Given the description of an element on the screen output the (x, y) to click on. 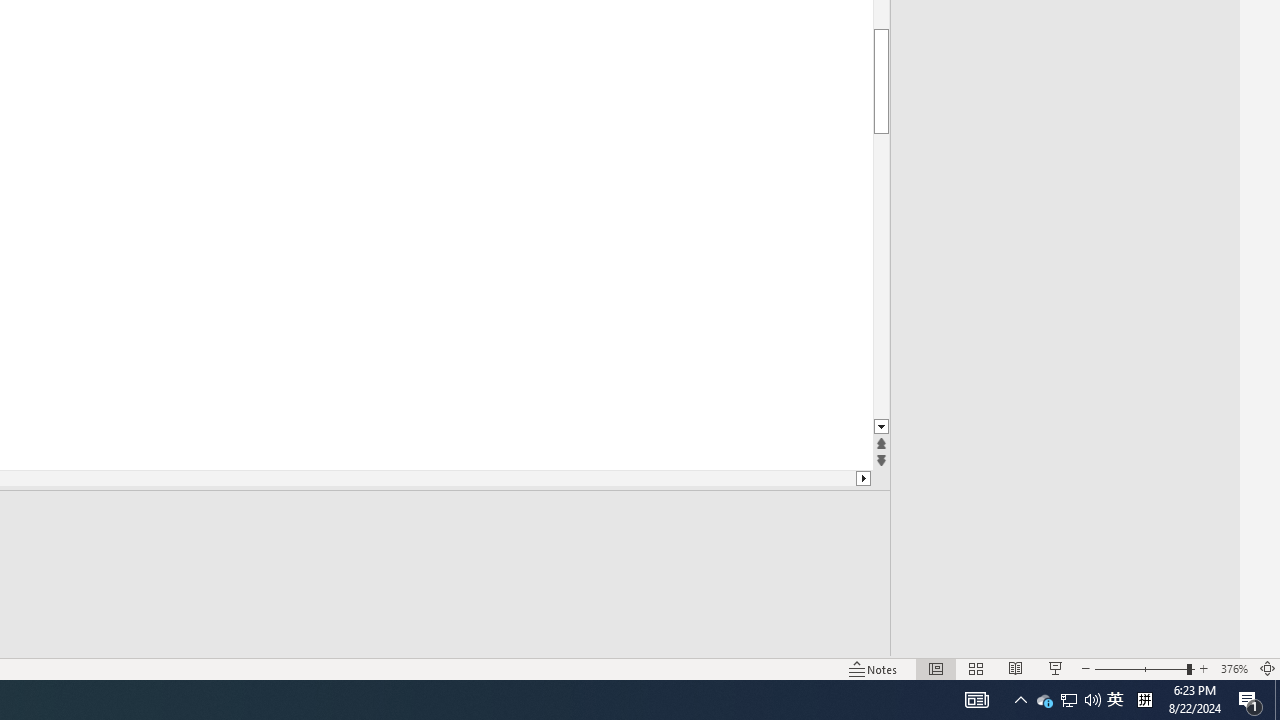
Zoom 376% (1234, 668)
